Given the description of an element on the screen output the (x, y) to click on. 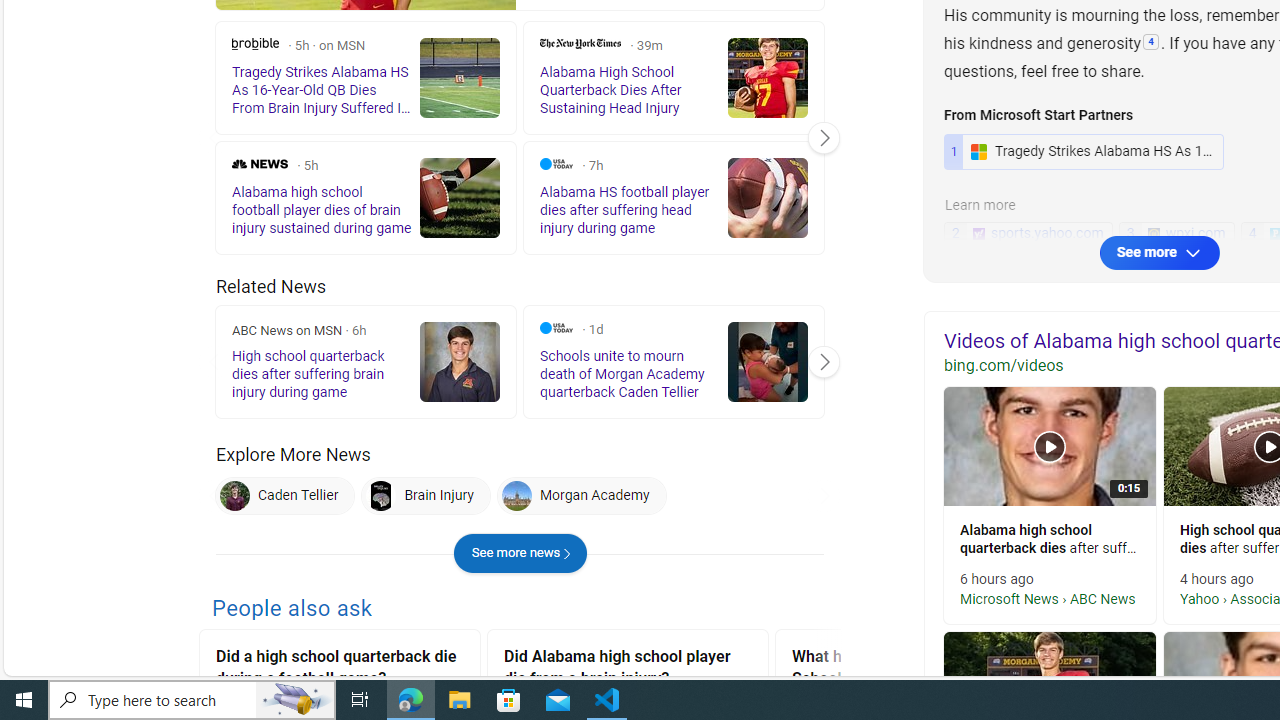
Brain Injury Brain Injury (426, 496)
What happened to a Selma High School quarterback? (915, 669)
Brain Injury (381, 495)
Morgan Academy Morgan Academy (580, 496)
Caden Tellier (234, 495)
